Given the description of an element on the screen output the (x, y) to click on. 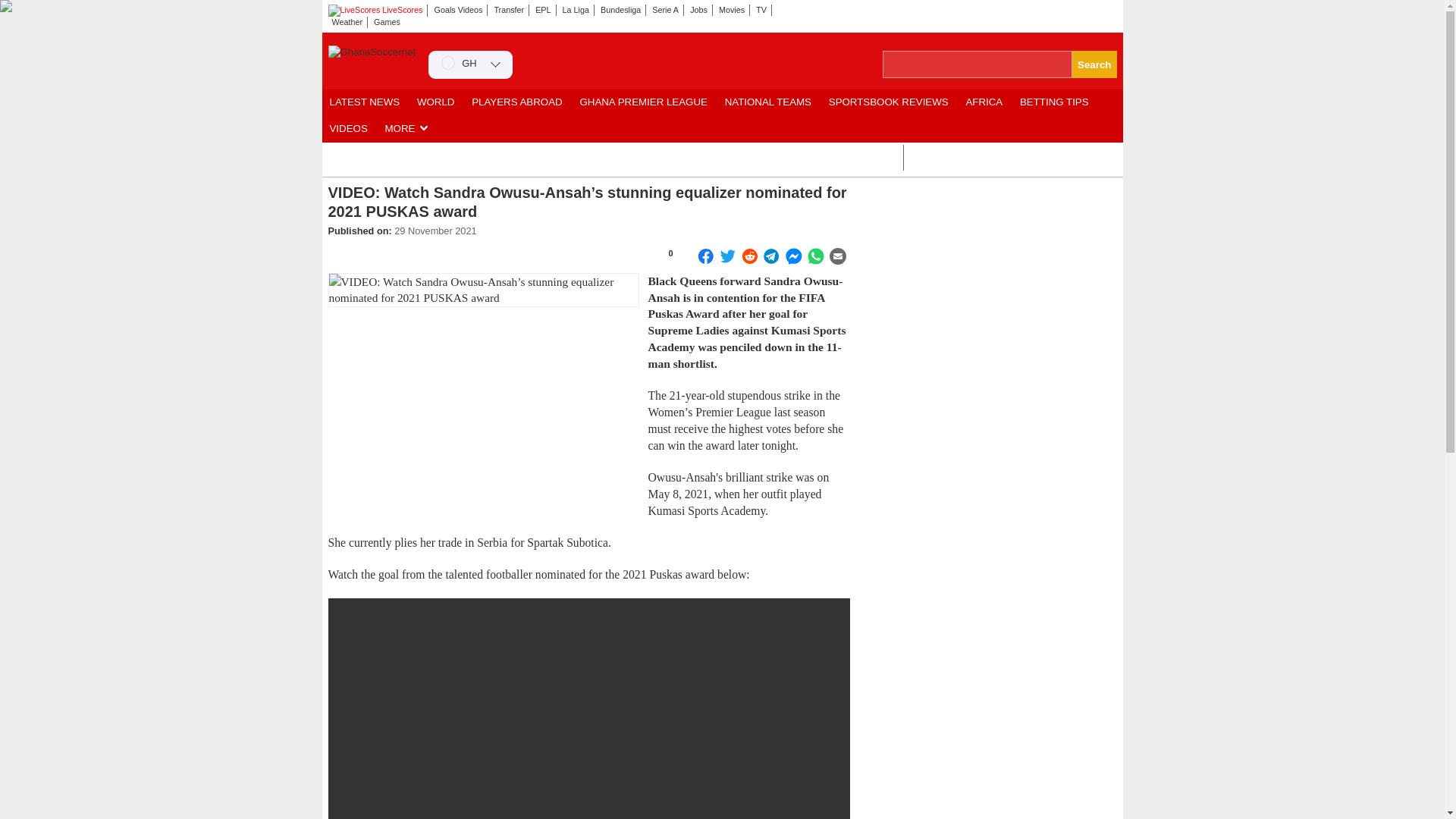
EPL (542, 9)
Movies (731, 9)
Footballghana Youtube (1086, 9)
Dreams Fc (521, 157)
Liberty Professionals (627, 157)
UEFA (924, 157)
La Liga (576, 9)
Ebusua Dwarfs (484, 157)
Footballghana Twitter (1065, 9)
Championship (959, 157)
